Given the description of an element on the screen output the (x, y) to click on. 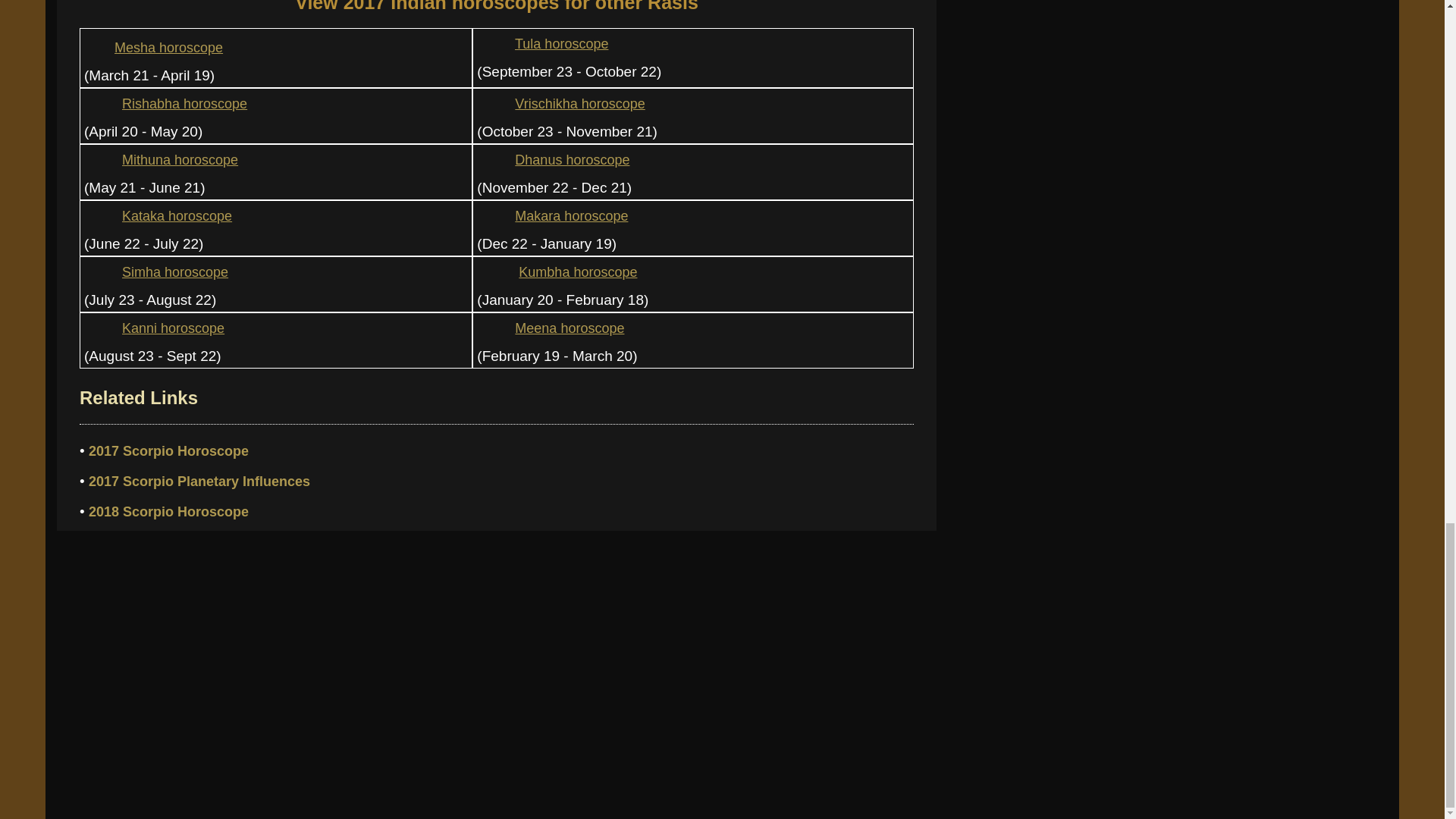
  Kataka horoscope (157, 215)
kanni 2017 Indian horoscope (99, 328)
2017 Scorpio Planetary Influences (199, 481)
Rishabha 2017 Indian horoscope (99, 104)
Mesha horoscope (153, 47)
  Rishabha horoscope (165, 103)
Mithuna 2017 Indian horoscope (99, 160)
Kataka 2017 Indian horoscope (99, 216)
  Meena horoscope (550, 328)
  Kanni horoscope (154, 328)
